Given the description of an element on the screen output the (x, y) to click on. 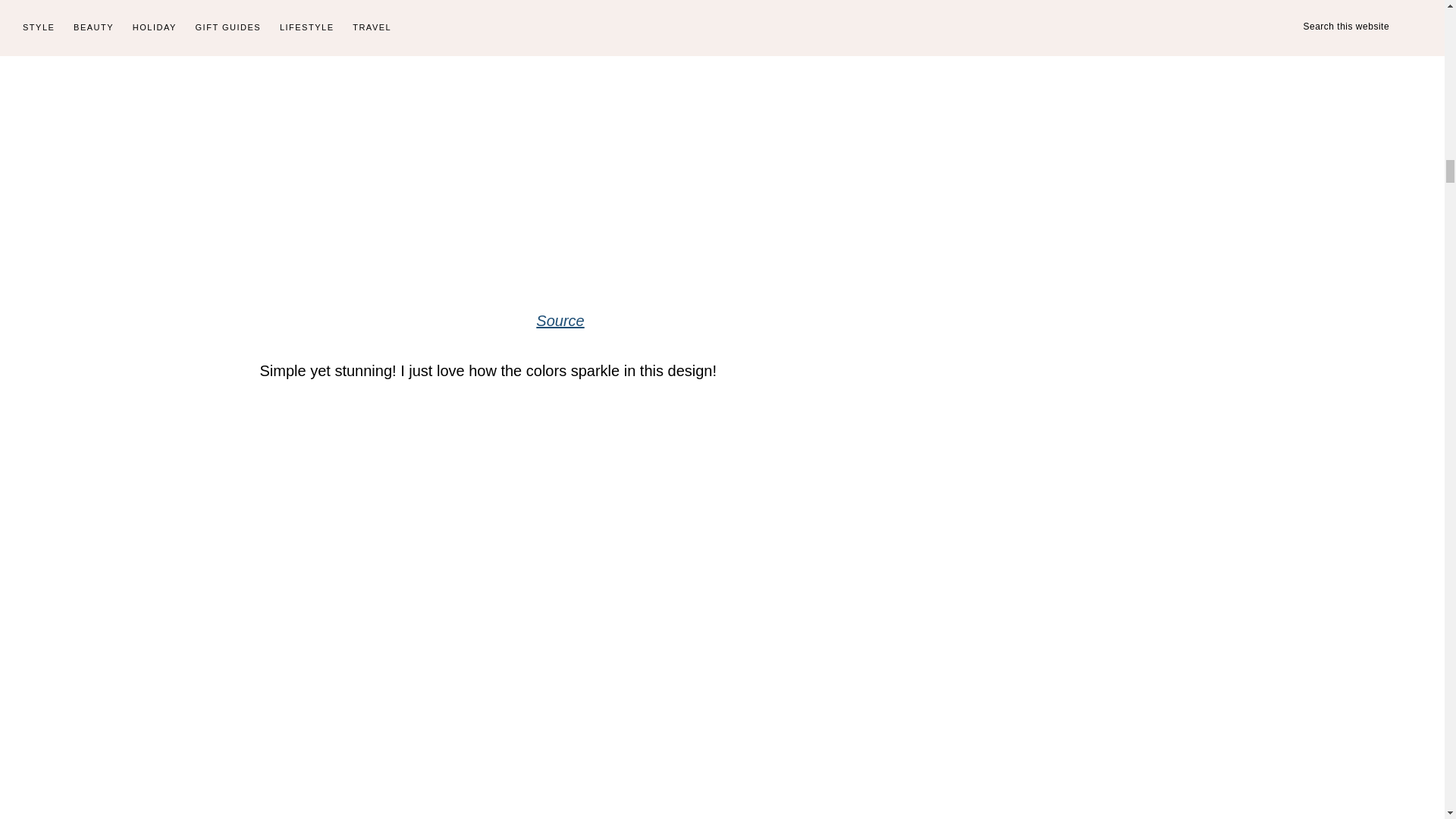
Source (559, 320)
